Given the description of an element on the screen output the (x, y) to click on. 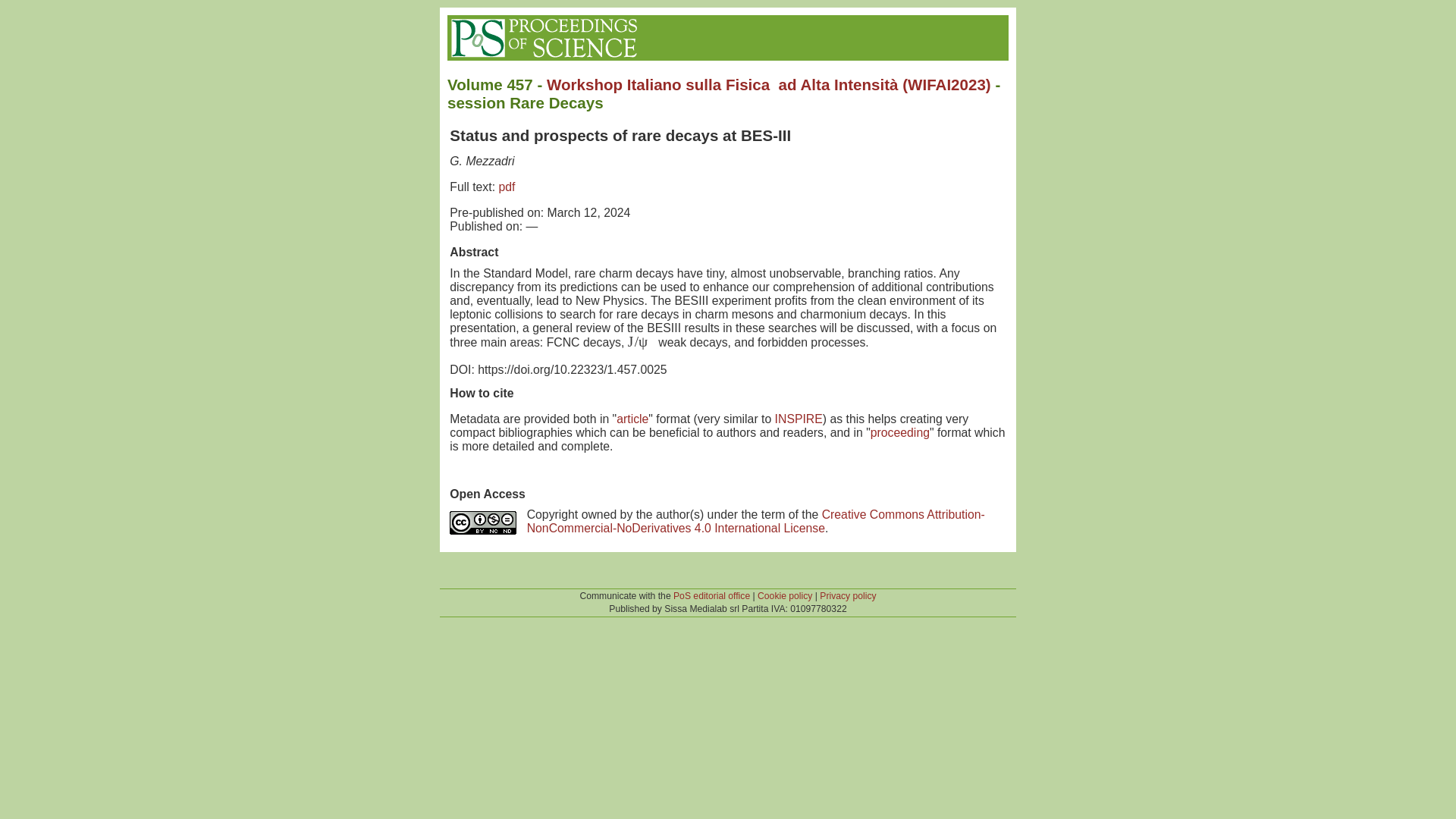
pdf (506, 186)
Cookie policy (784, 595)
proceeding (900, 431)
INSPIRE (798, 418)
Privacy policy (847, 595)
Cookie policy (784, 595)
Privacy policy (847, 595)
article (631, 418)
PoS editorial office (710, 595)
